Given the description of an element on the screen output the (x, y) to click on. 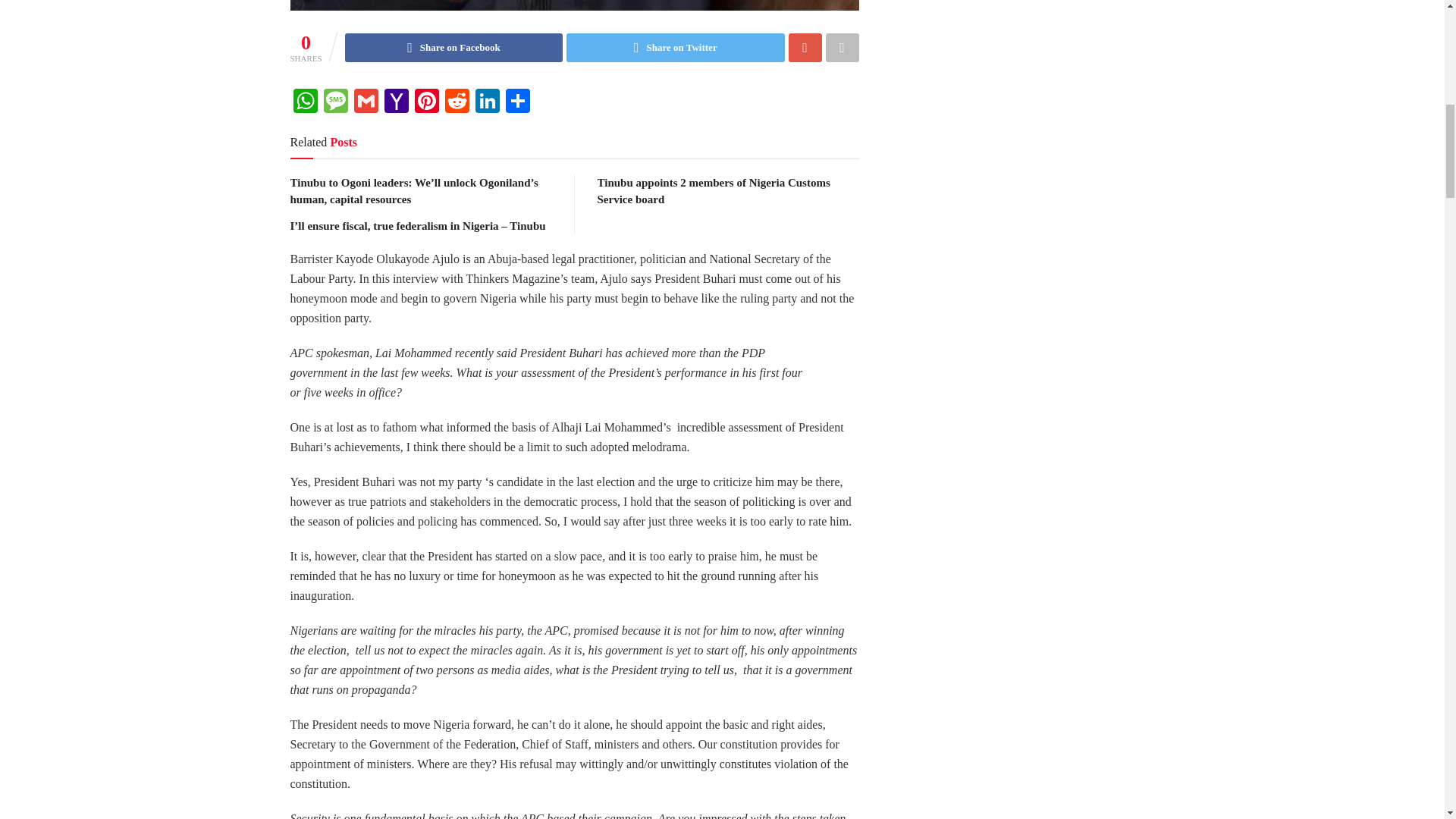
Message (335, 102)
Gmail (365, 102)
WhatsApp (304, 102)
Reddit (456, 102)
LinkedIn (486, 102)
Pinterest (425, 102)
Yahoo Mail (395, 102)
